Given the description of an element on the screen output the (x, y) to click on. 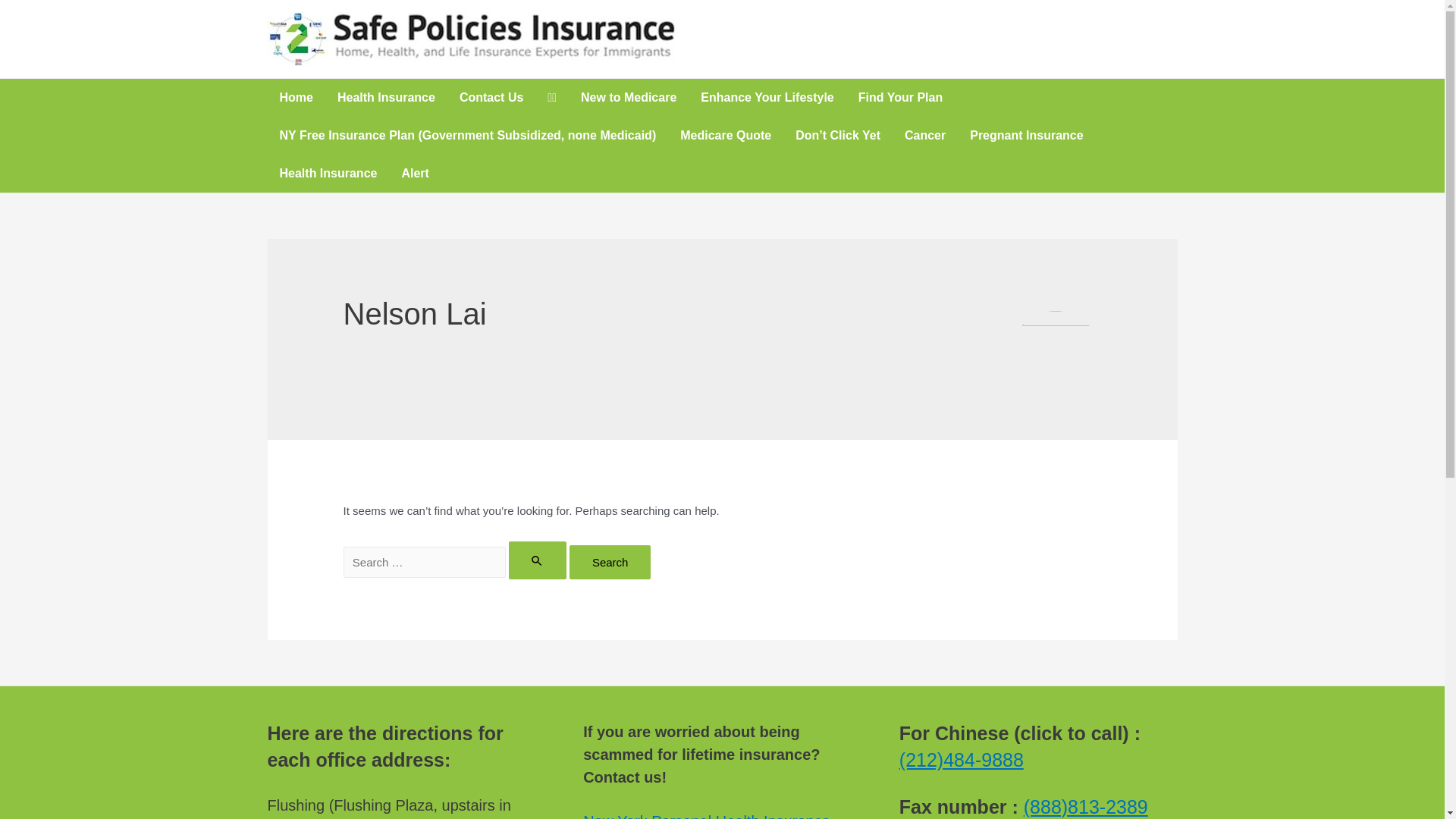
Cancer Element type: text (924, 135)
Alert Element type: text (414, 173)
Enhance Your Lifestyle Element type: text (766, 97)
New to Medicare Element type: text (628, 97)
Health Insurance Element type: text (386, 97)
Search Element type: text (610, 562)
Contact Us Element type: text (491, 97)
(212)484-9888 Element type: text (961, 759)
Home Element type: text (295, 97)
Health Insurance Element type: text (327, 173)
Medicare Quote Element type: text (725, 135)
Find Your Plan Element type: text (900, 97)
Pregnant Insurance Element type: text (1026, 135)
(888)813-2389 Element type: text (1085, 806)
